Given the description of an element on the screen output the (x, y) to click on. 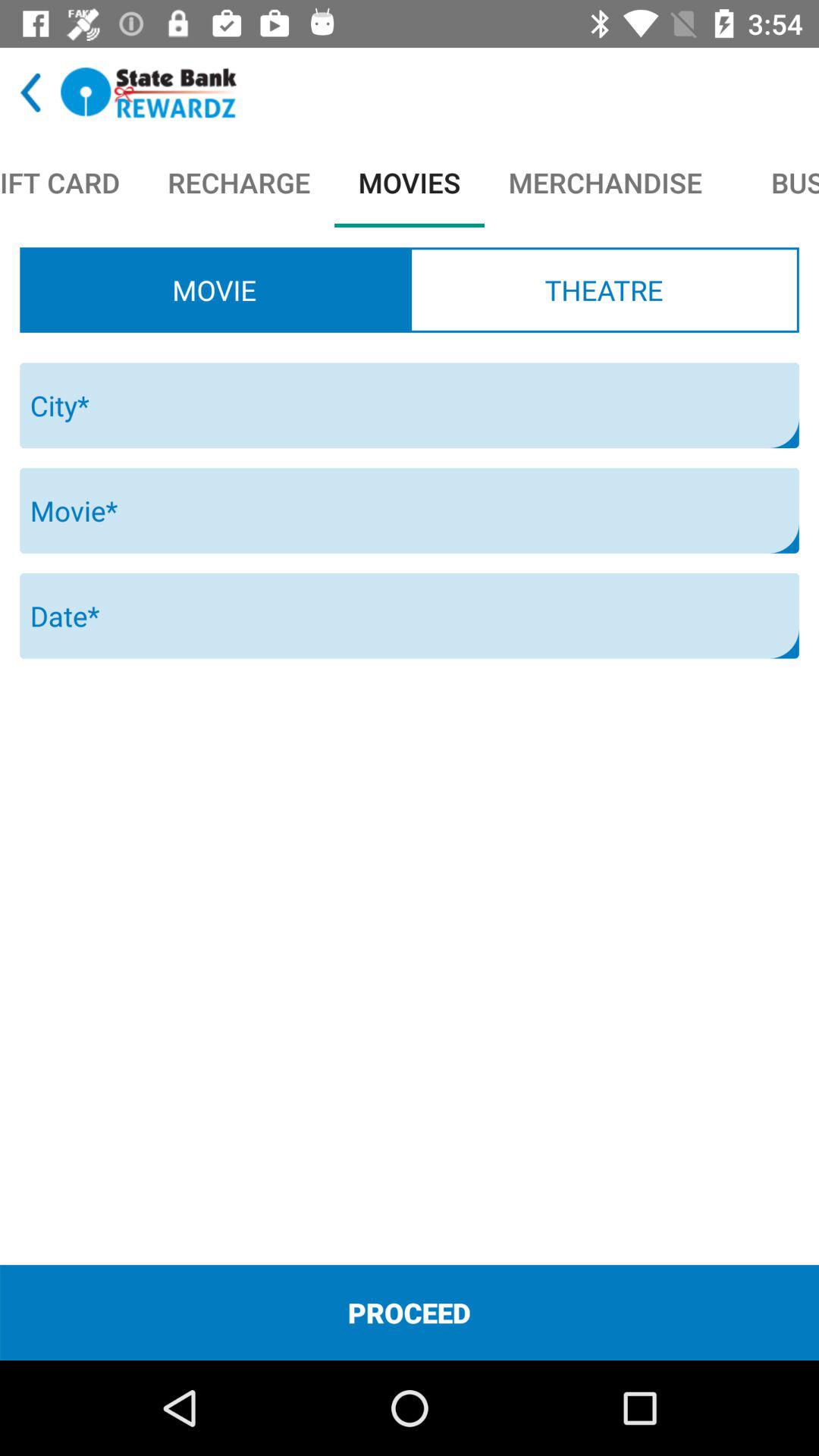
tap the theatre (604, 289)
